Given the description of an element on the screen output the (x, y) to click on. 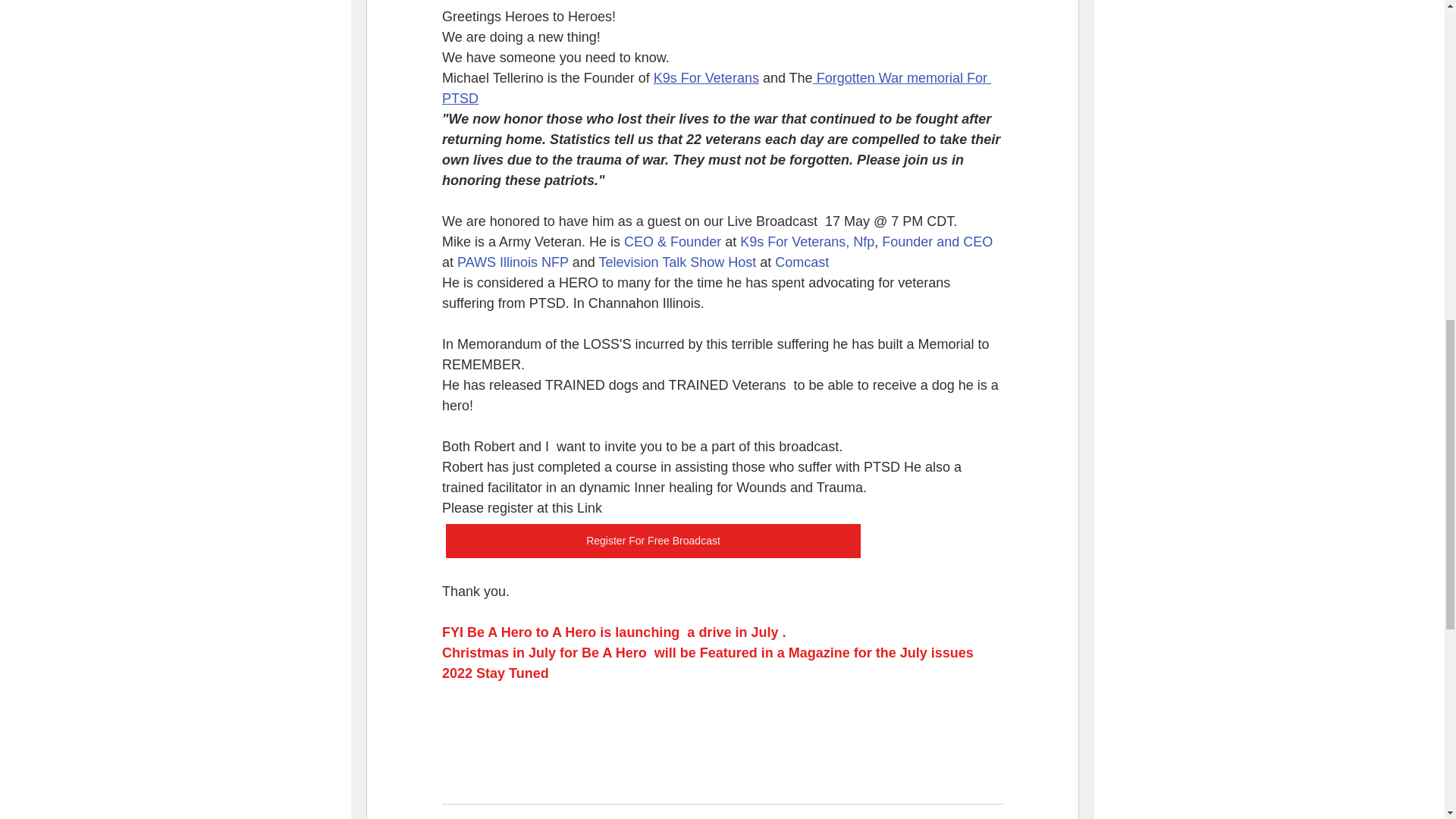
Founder and CEO (937, 241)
PAWS Illinois NFP (513, 262)
Television Talk Show Host (676, 262)
K9s For Veterans, Nfp (807, 241)
Register For Free Broadcast (652, 540)
K9s For Veterans (705, 77)
 Forgotten War memorial For PTSD (715, 88)
Comcast (801, 262)
